Given the description of an element on the screen output the (x, y) to click on. 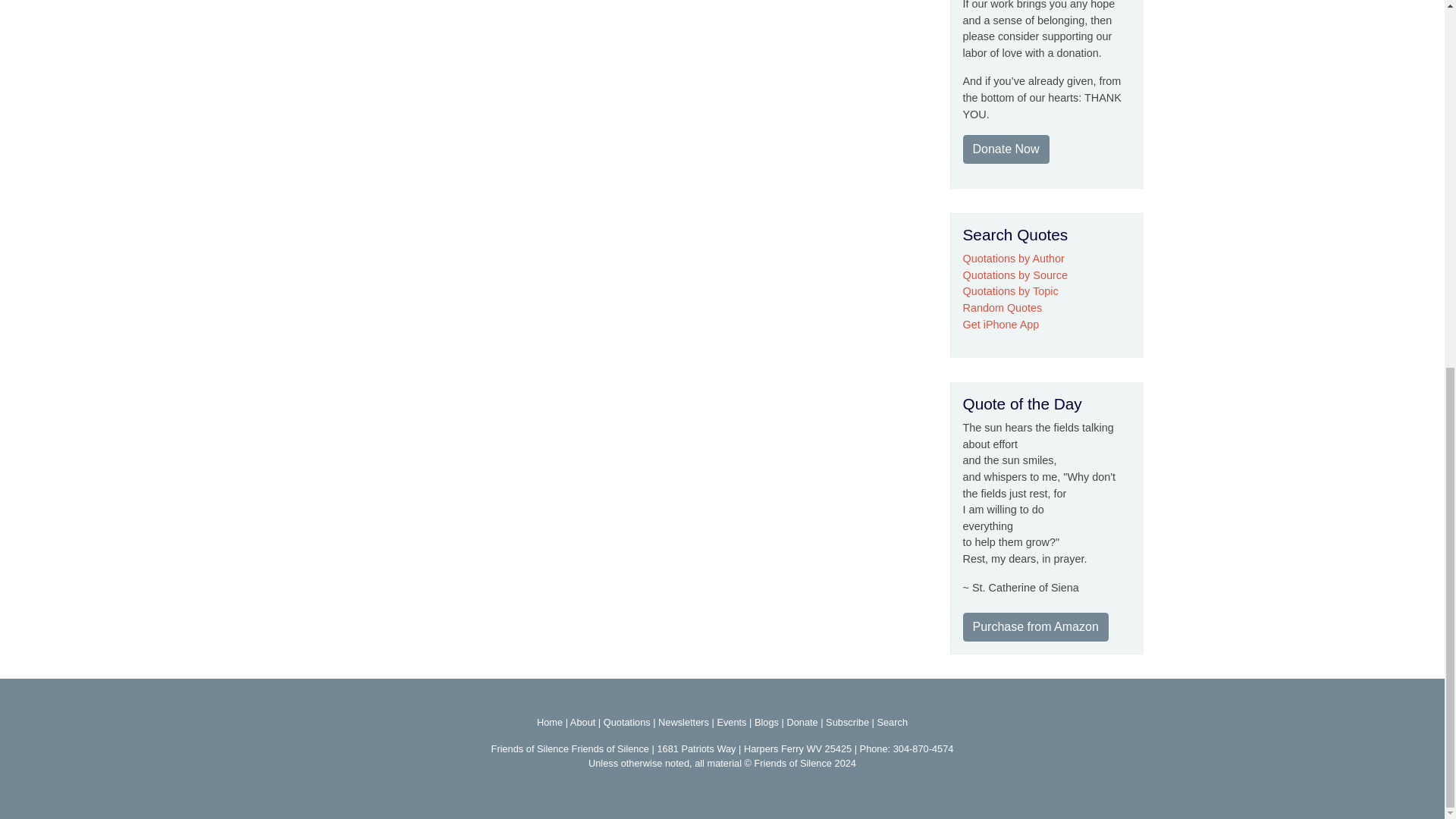
Purchase from Amazon (1035, 626)
Blogs (766, 722)
Search (891, 722)
About (582, 722)
Donate (801, 722)
Quotations by Topic (1010, 291)
Home (549, 722)
Random Quotes (1002, 307)
Newsletters (683, 722)
Quotations by Author (1013, 258)
